Given the description of an element on the screen output the (x, y) to click on. 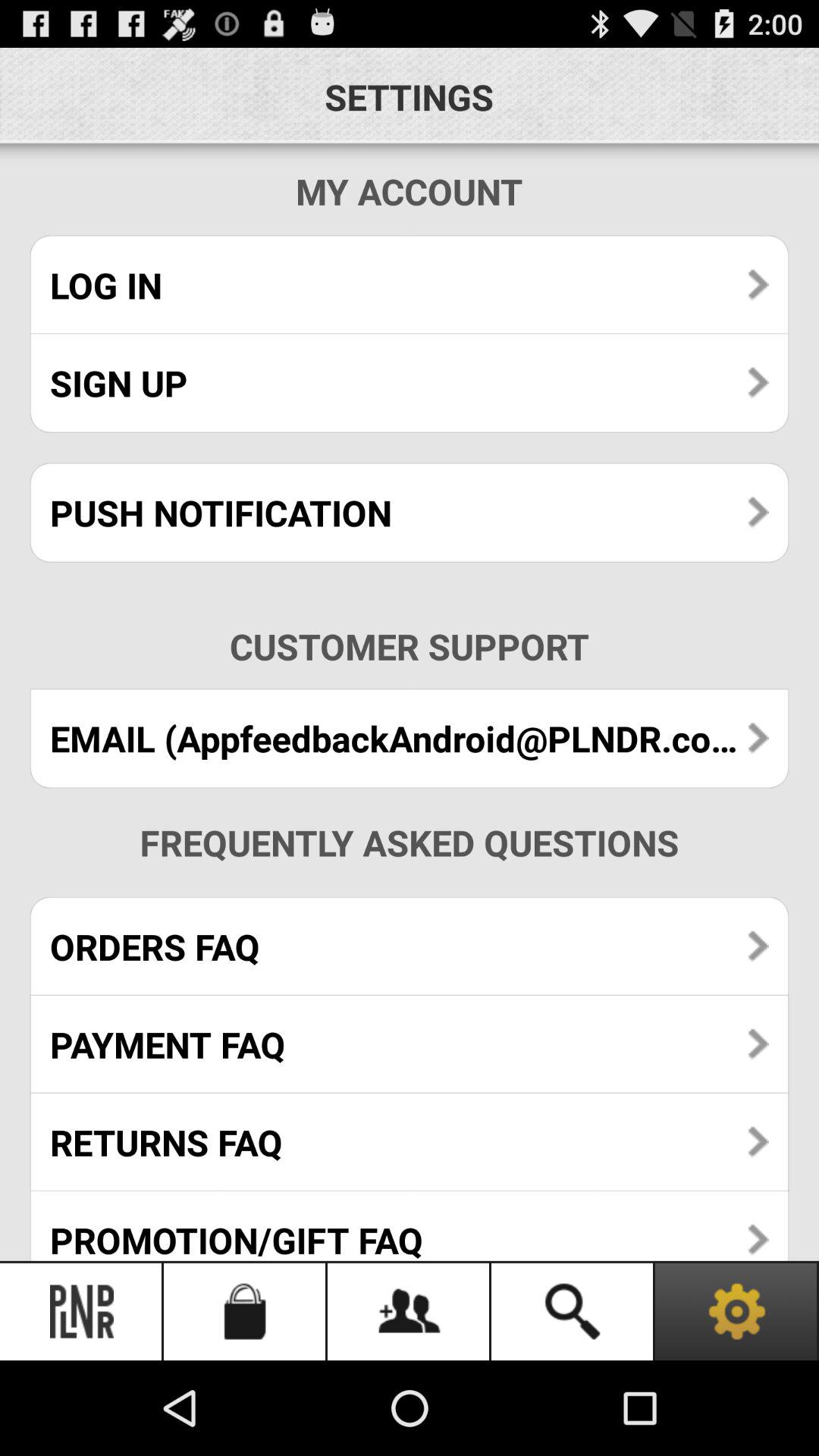
jump until the email appfeedbackandroid plndr item (409, 738)
